Given the description of an element on the screen output the (x, y) to click on. 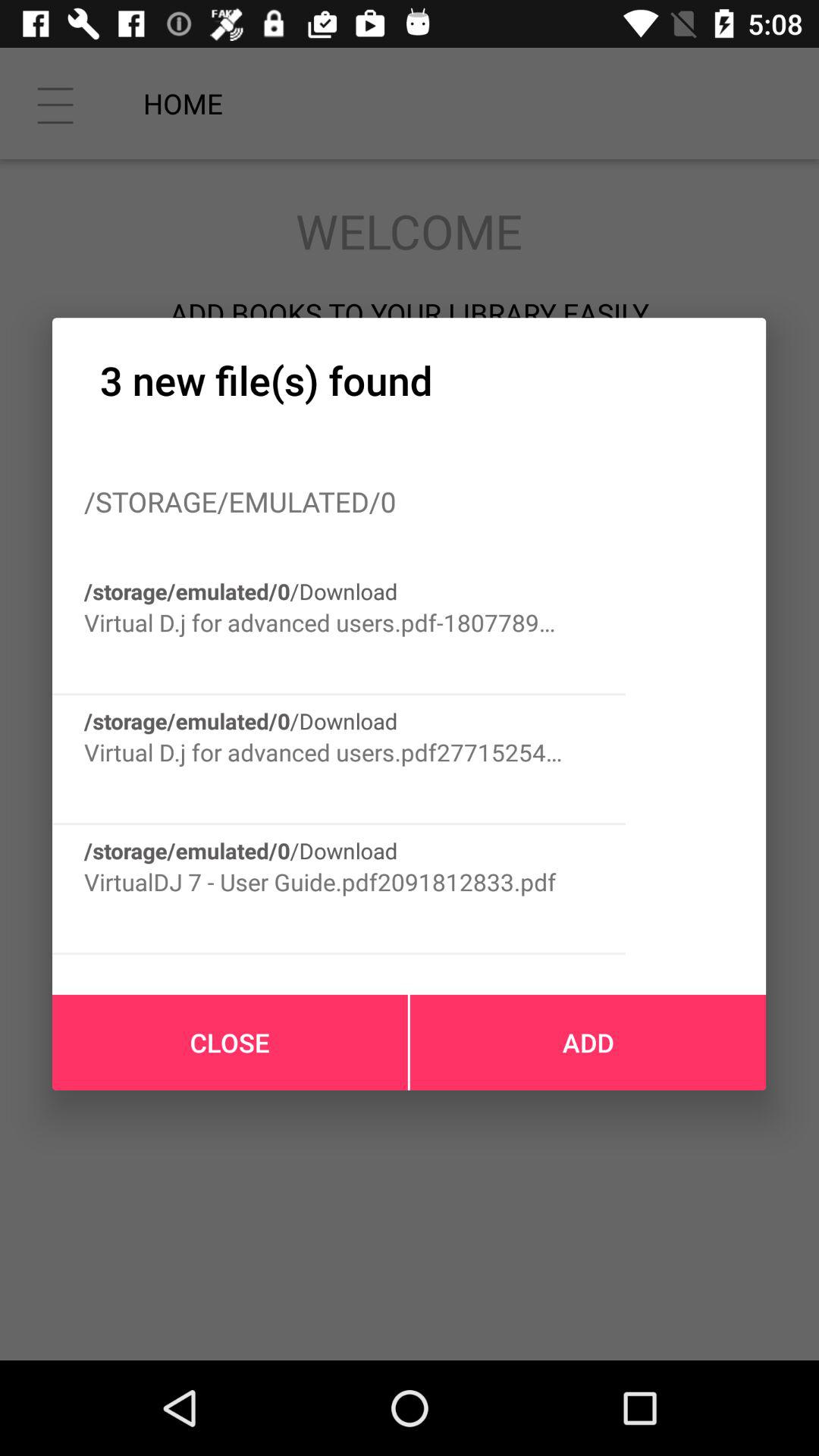
scroll until the close icon (229, 1042)
